Given the description of an element on the screen output the (x, y) to click on. 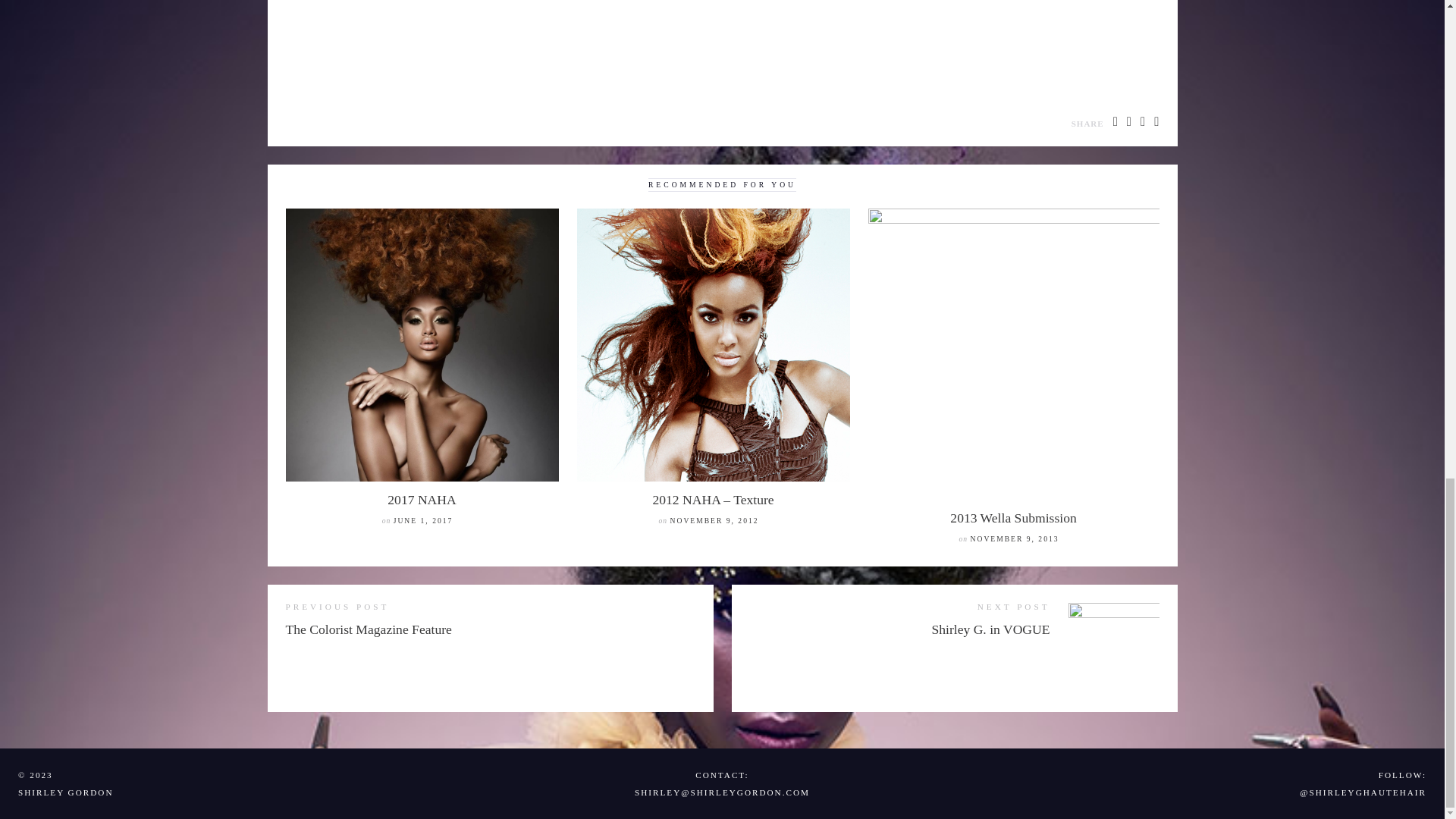
2013 Wella Submission (1012, 517)
2017 NAHA (421, 499)
The Colorist Magazine Feature (368, 629)
Shirley G. in VOGUE (990, 629)
